Given the description of an element on the screen output the (x, y) to click on. 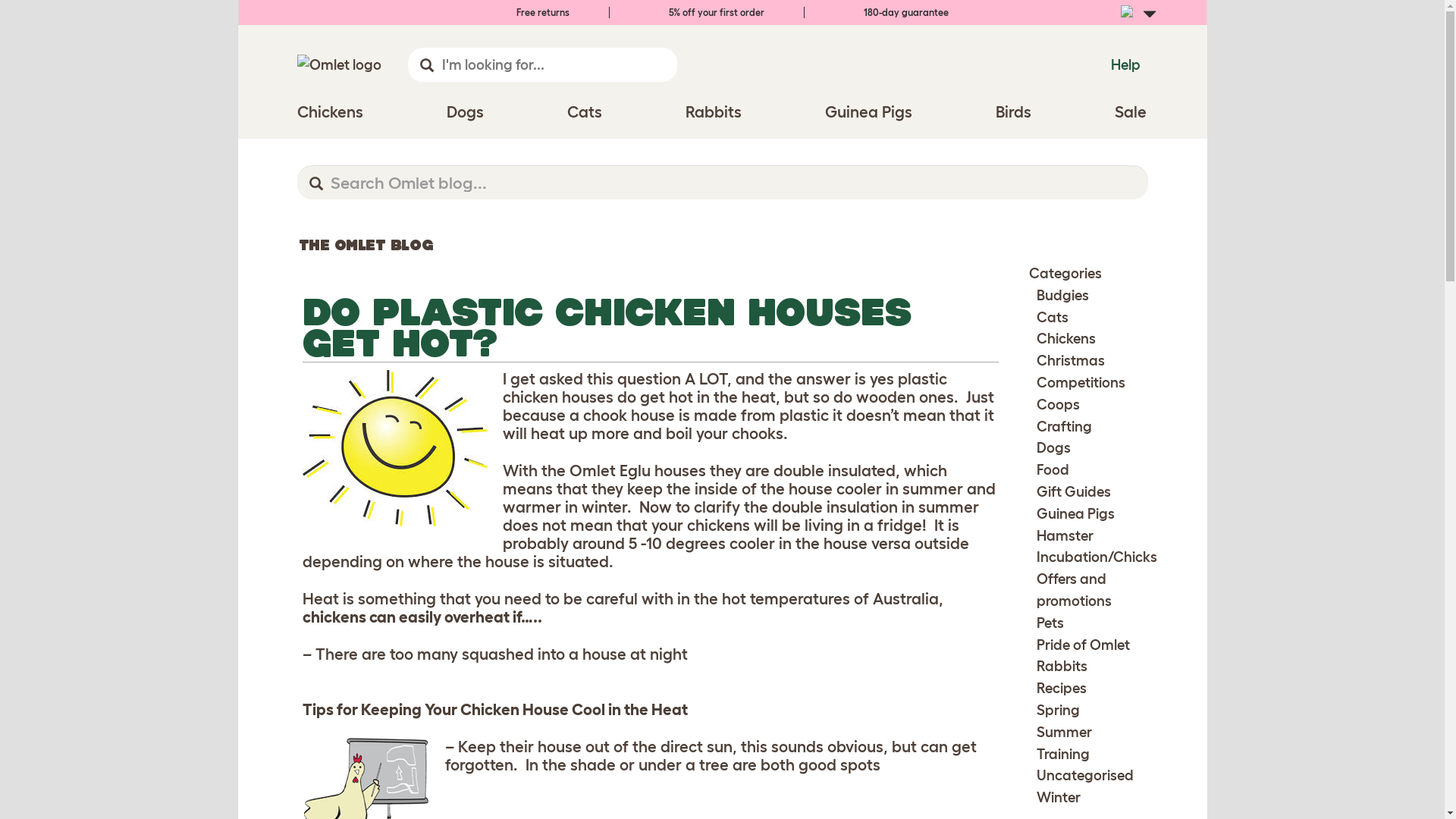
Pets Element type: text (1049, 622)
Recipes Element type: text (1061, 688)
Chickens Element type: text (330, 111)
Pride of Omlet Element type: text (1082, 644)
Help Element type: text (1124, 65)
Summer Element type: text (1064, 732)
Uncategorised Element type: text (1084, 775)
Training Element type: text (1062, 754)
Free returns Element type: text (532, 12)
Sale Element type: text (1130, 111)
Offers and promotions Element type: text (1073, 589)
Dogs Element type: text (464, 111)
Winter Element type: text (1058, 797)
Christmas Element type: text (1070, 360)
Omlet Element type: hover (339, 65)
Guinea Pigs Element type: text (1075, 513)
Budgies Element type: text (1062, 295)
Spring Element type: text (1057, 710)
THE OMLET BLOG Element type: text (365, 244)
Cats Element type: text (584, 111)
Birds Element type: text (1012, 111)
Dogs Element type: text (1053, 447)
Rabbits Element type: text (1061, 666)
Crafting Element type: text (1064, 426)
Competitions Element type: text (1080, 382)
Rabbits Element type: text (713, 111)
5% off your first order Element type: text (706, 12)
Incubation/Chicks Element type: text (1096, 556)
Chickens Element type: text (1065, 338)
Food Element type: text (1052, 469)
Coops Element type: text (1057, 404)
Hamster Element type: text (1064, 535)
Guinea Pigs Element type: text (868, 111)
Cats Element type: text (1052, 317)
180-day guarantee Element type: text (895, 12)
Gift Guides Element type: text (1073, 491)
